Given the description of an element on the screen output the (x, y) to click on. 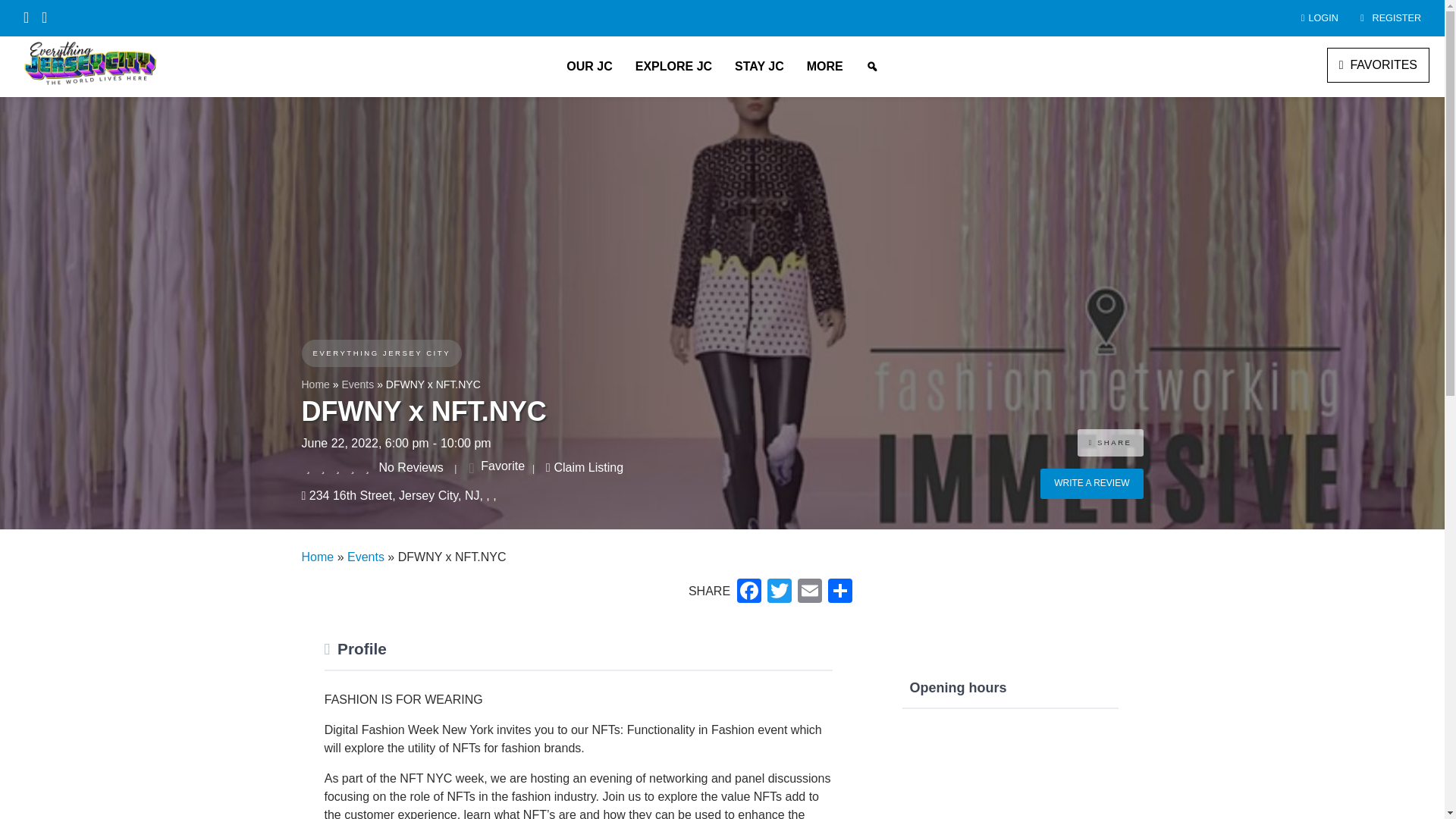
Add to Favorites (496, 465)
LOGIN (1310, 18)
MORE (824, 66)
Email (809, 592)
REGISTER (1379, 18)
Twitter (779, 592)
 Login (1310, 18)
Facebook (748, 592)
STAY JC (758, 66)
No rating yet! (338, 467)
 Register (1379, 18)
OUR JC (588, 66)
EXPLORE JC (673, 66)
